Given the description of an element on the screen output the (x, y) to click on. 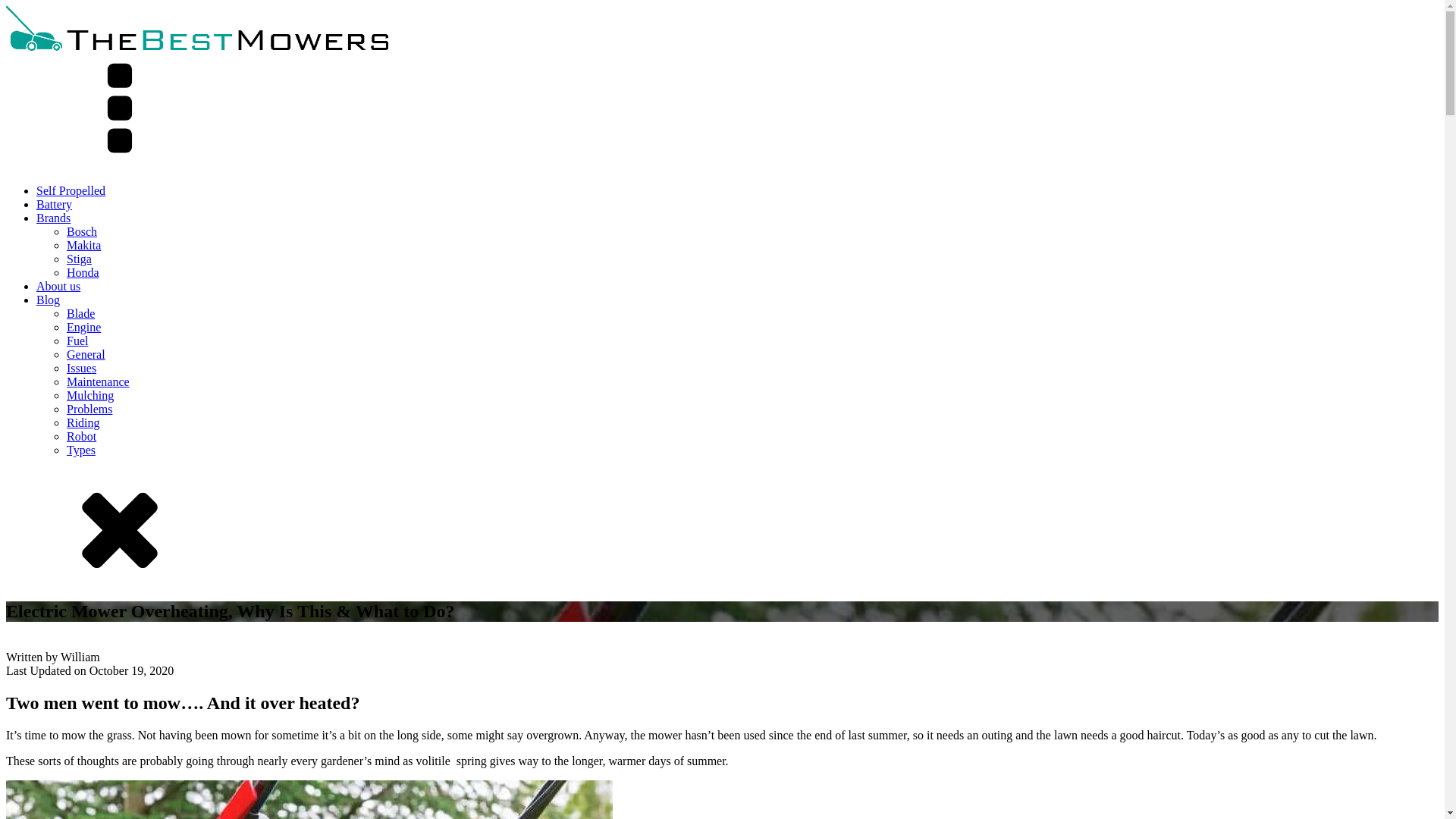
Honda (82, 272)
Self Propelled (70, 190)
Issues (81, 367)
Fuel (76, 340)
Brands (52, 217)
General (85, 354)
About us (58, 286)
Robot (81, 436)
Battery (53, 204)
Blade (80, 313)
Maintenance (97, 381)
Makita (83, 245)
Stiga (78, 258)
Bosch (81, 231)
Types (81, 449)
